Given the description of an element on the screen output the (x, y) to click on. 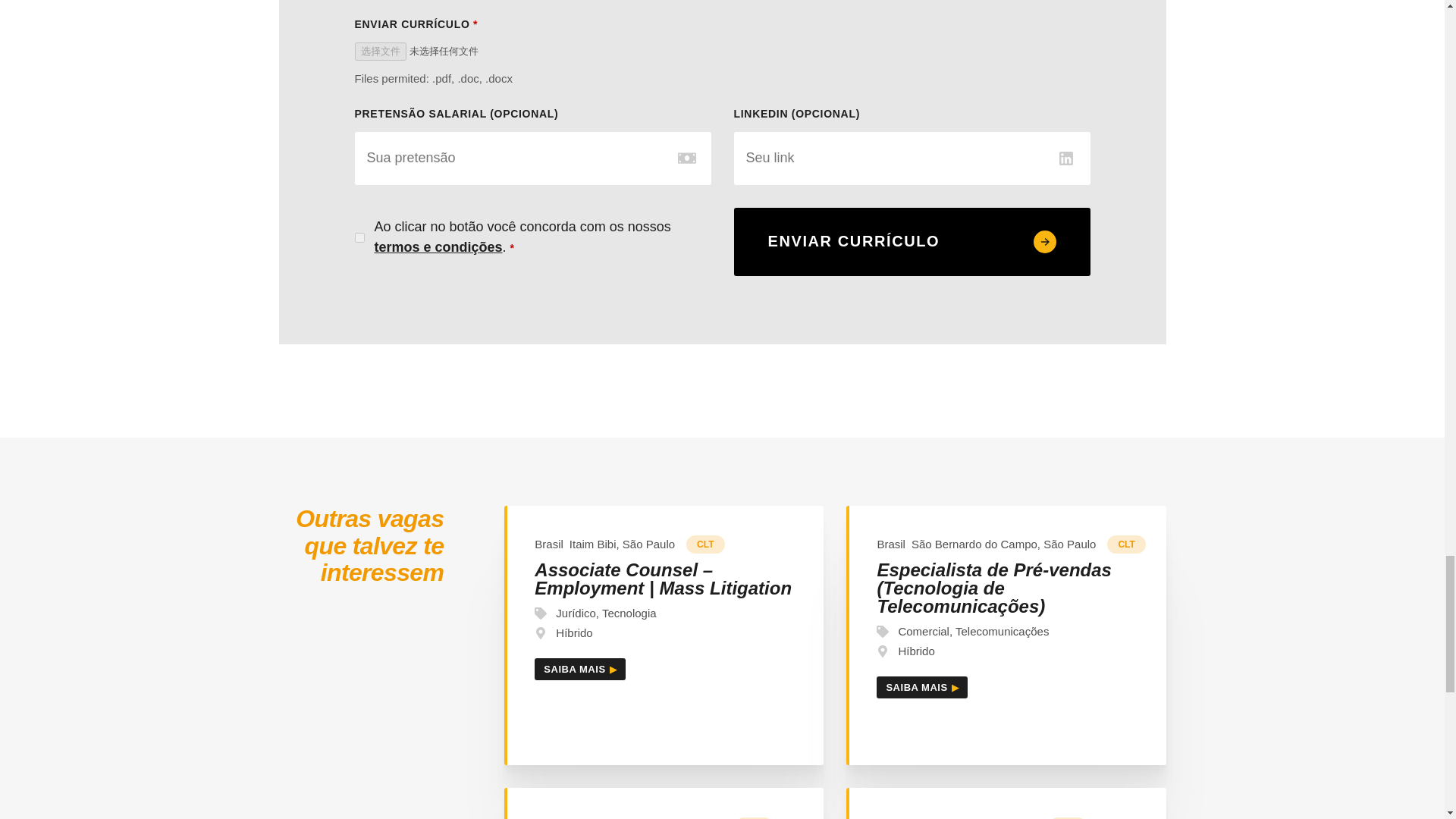
SAIBA MAIS (580, 669)
yes (360, 237)
SAIBA MAIS (922, 687)
